Given the description of an element on the screen output the (x, y) to click on. 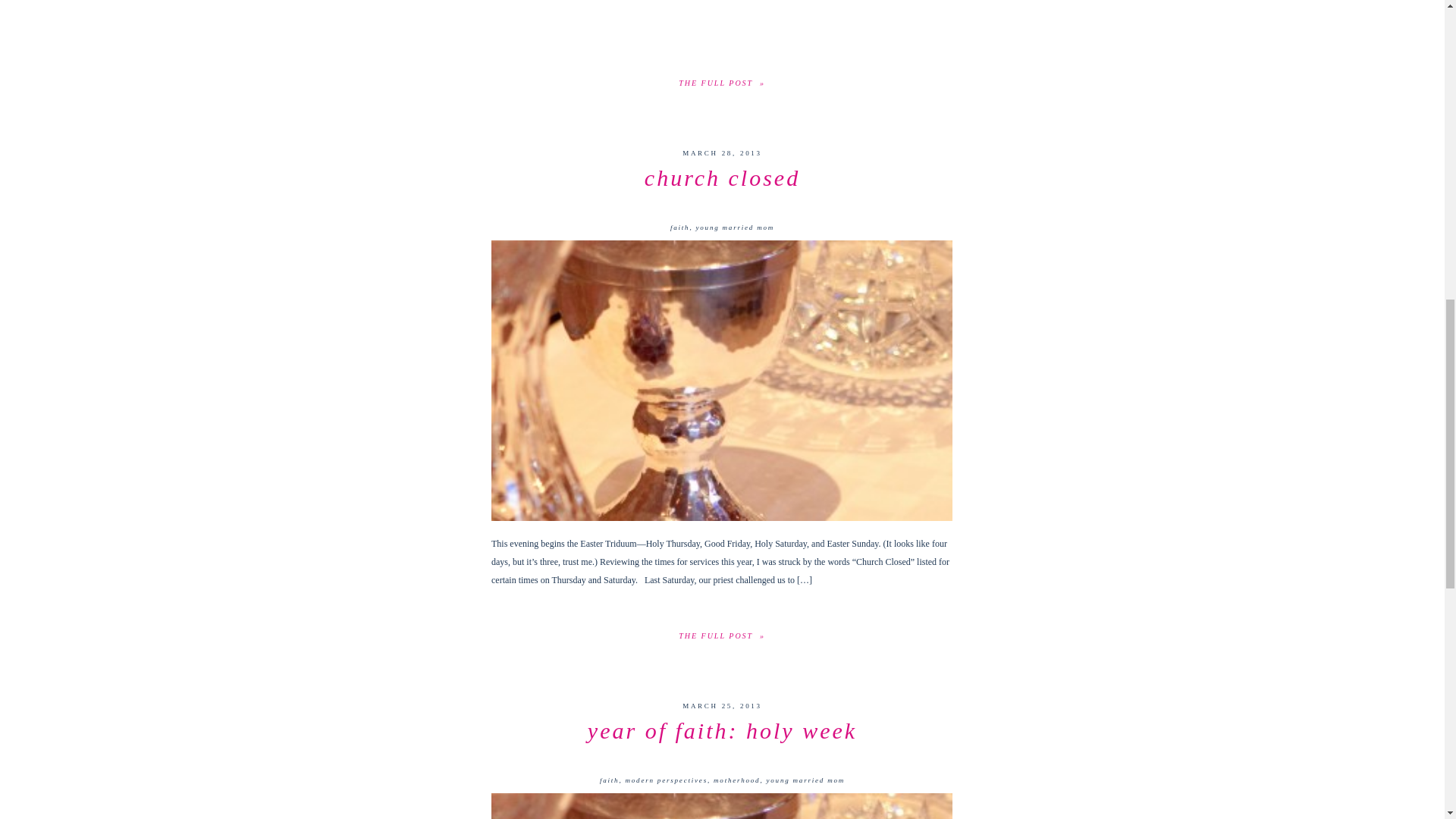
Year of Faith: Holy Week (722, 806)
church closed (722, 177)
motherhood (736, 779)
Appreciating the Tension of Lent (722, 82)
Church Closed (722, 380)
young married mom (804, 779)
young married mom (734, 226)
modern perspectives (665, 779)
faith (679, 226)
year of faith: holy week (722, 730)
